Given the description of an element on the screen output the (x, y) to click on. 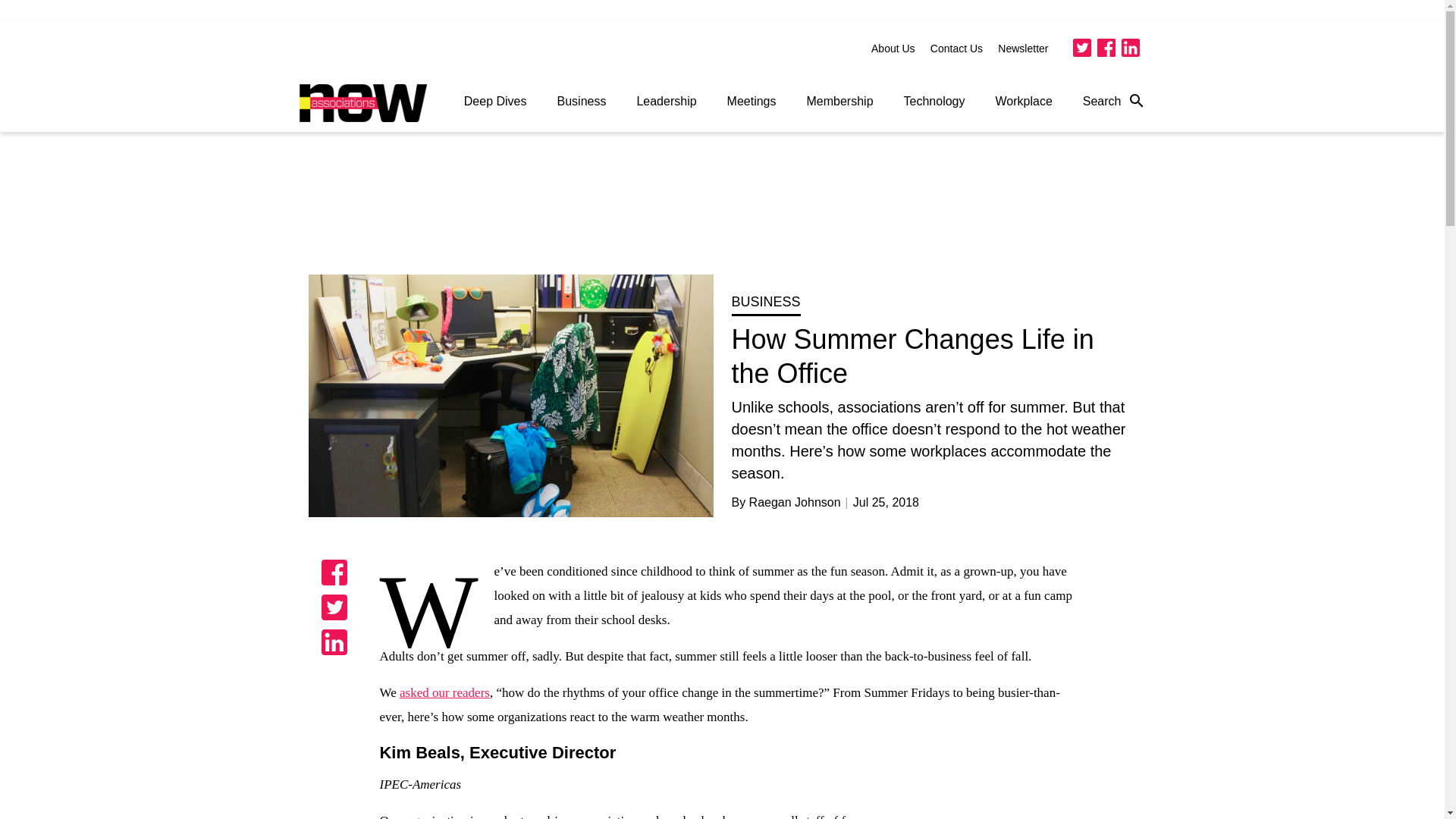
Leadership (666, 101)
Workplace (1023, 101)
Technology (933, 101)
Contact Us (956, 48)
Visit us onFacebook (1105, 47)
3rd party ad content (1030, 796)
Facebook (1105, 47)
Newsletter (1022, 48)
asked our readers (443, 692)
Business (581, 101)
Deep Dives (494, 101)
Twitter (1080, 47)
3rd party ad content (722, 210)
Share (334, 606)
LinkedIn (1129, 47)
